Given the description of an element on the screen output the (x, y) to click on. 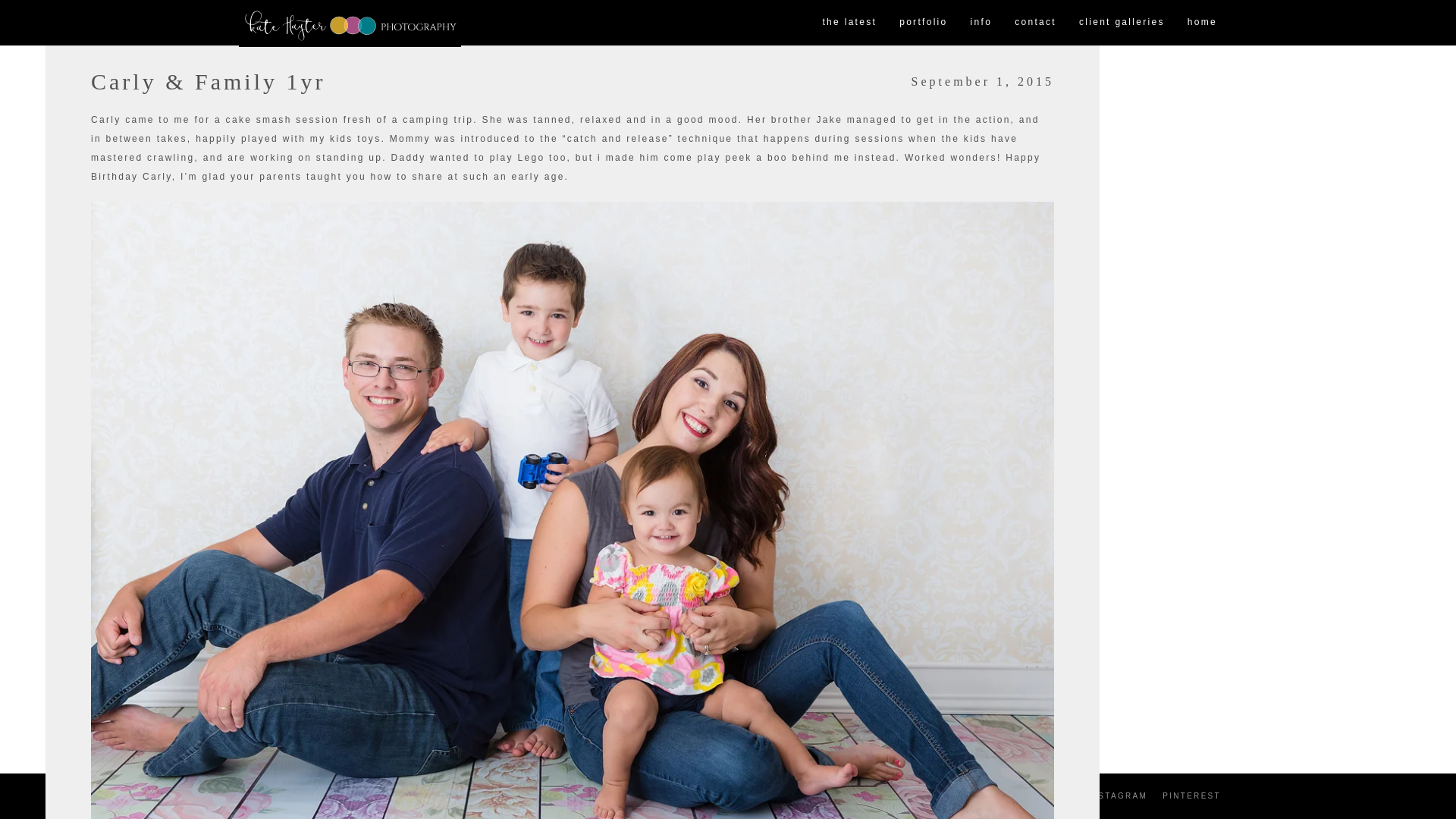
home (1202, 22)
FACEBOOK (1043, 796)
PINTEREST (1191, 796)
portfolio (923, 22)
contact (1035, 22)
info (981, 22)
client galleries (1121, 22)
the latest (849, 22)
INSTAGRAM (1117, 796)
